Given the description of an element on the screen output the (x, y) to click on. 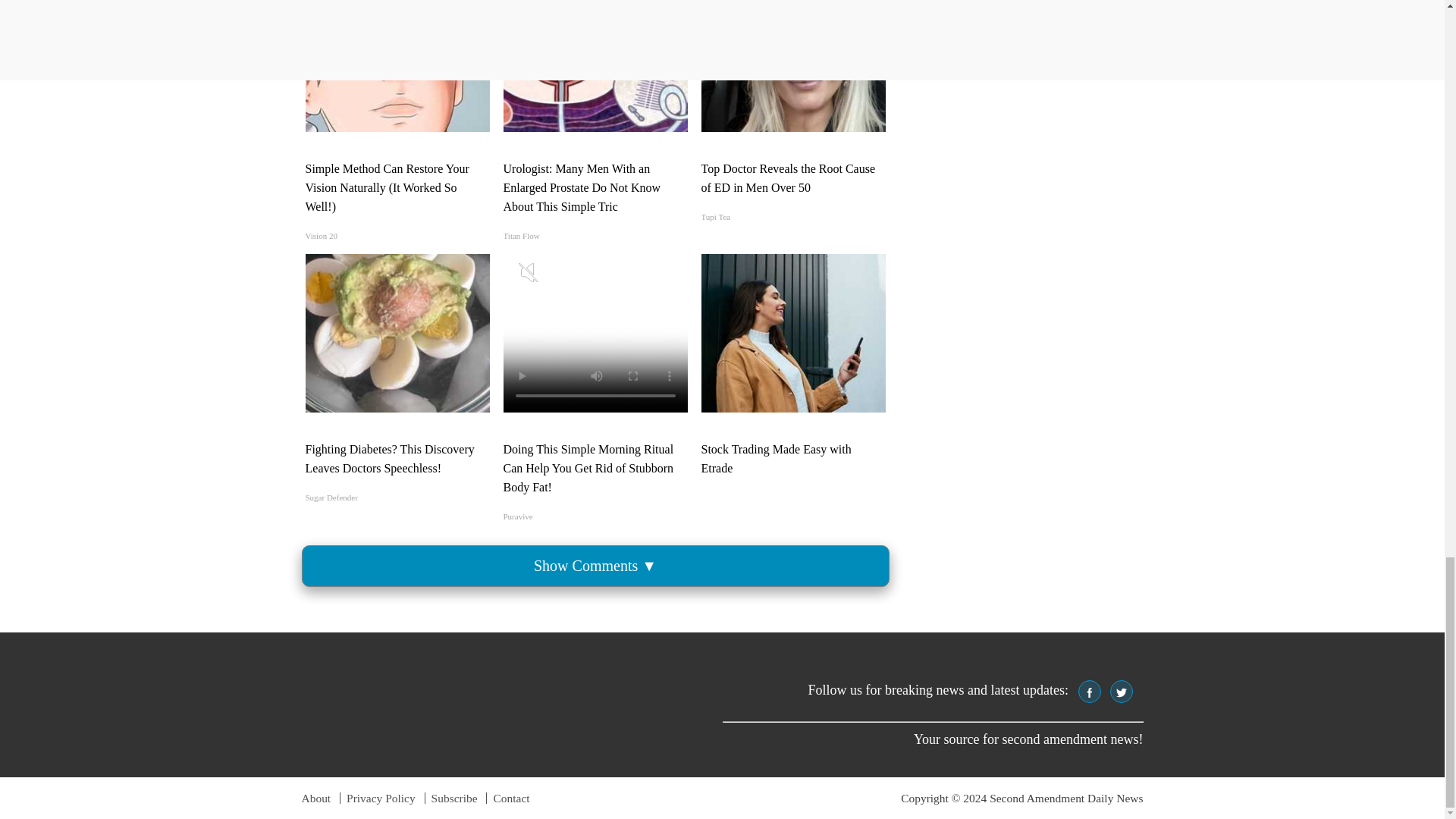
Follow us on Facebook (1089, 691)
twitter (1121, 692)
facebook (1089, 692)
